Given the description of an element on the screen output the (x, y) to click on. 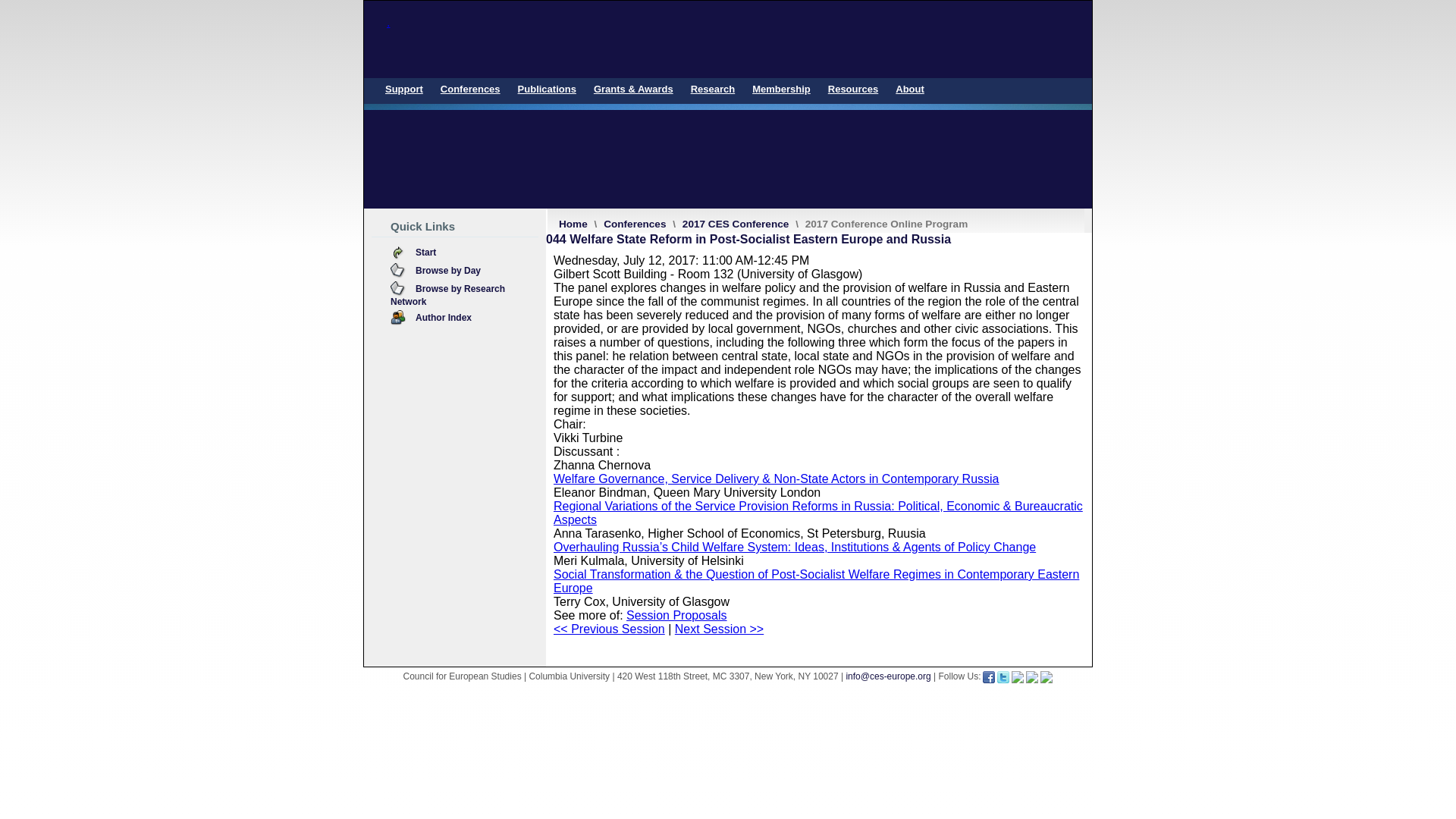
Publications (547, 88)
Conferences (470, 88)
. (728, 38)
Research (712, 88)
Support (403, 88)
